Given the description of an element on the screen output the (x, y) to click on. 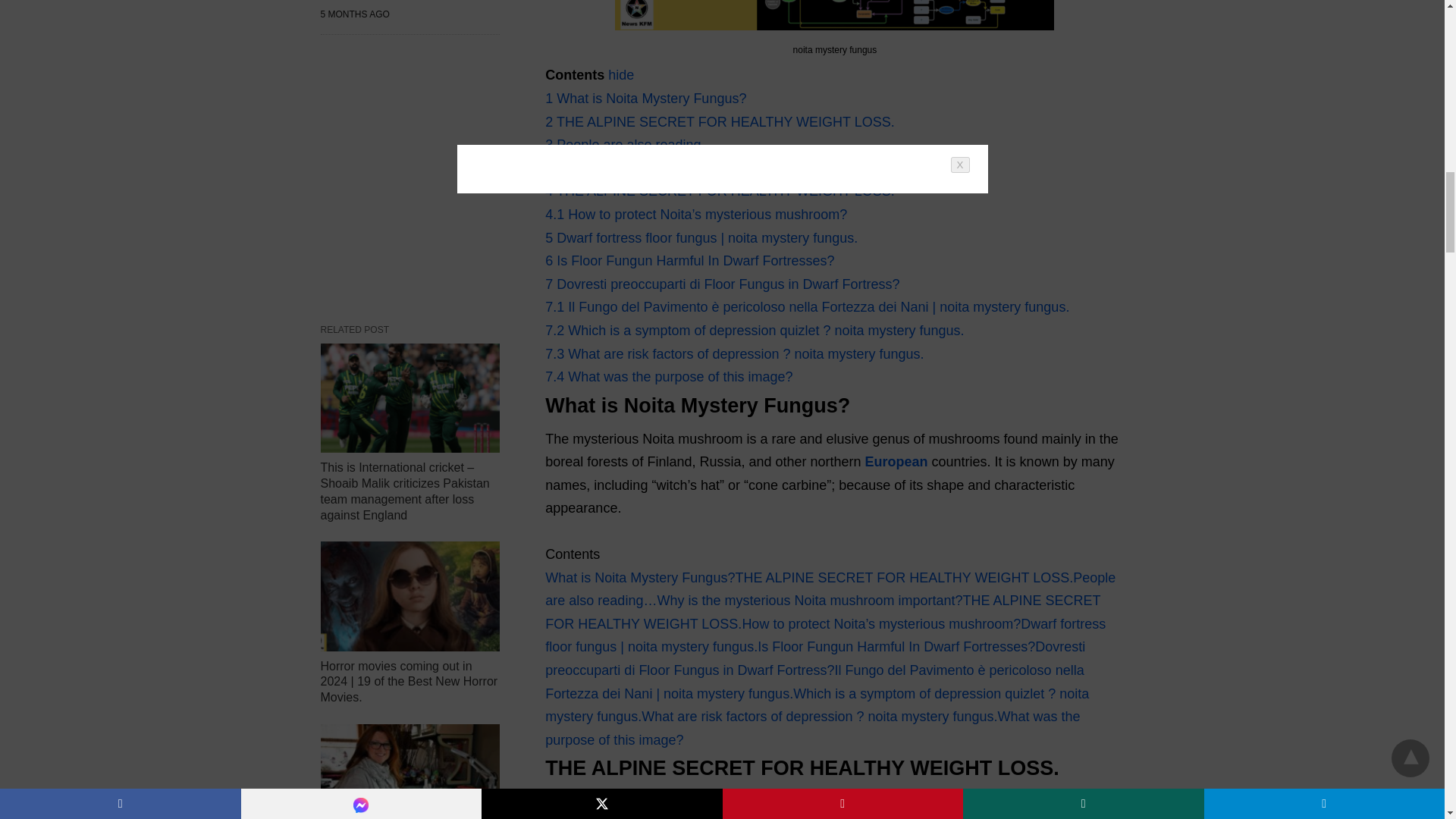
What was the purpose of this image? (812, 728)
6 Is Floor Fungun Harmful In Dwarf Fortresses? (689, 260)
2 THE ALPINE SECRET FOR HEALTHY WEIGHT LOSS. (718, 121)
What are risk factors of depression ? noita mystery fungus. (819, 716)
Is Floor Fungun Harmful In Dwarf Fortresses? (896, 646)
Dovresti preoccuparti di Floor Fungus in Dwarf Fortress? (814, 658)
THE ALPINE SECRET FOR HEALTHY WEIGHT LOSS. (822, 611)
Why is the mysterious Noita mushroom important? (809, 600)
7 Dovresti preoccuparti di Floor Fungus in Dwarf Fortress? (721, 283)
hide (620, 74)
What is Noita Mystery Fungus? (639, 577)
